Given the description of an element on the screen output the (x, y) to click on. 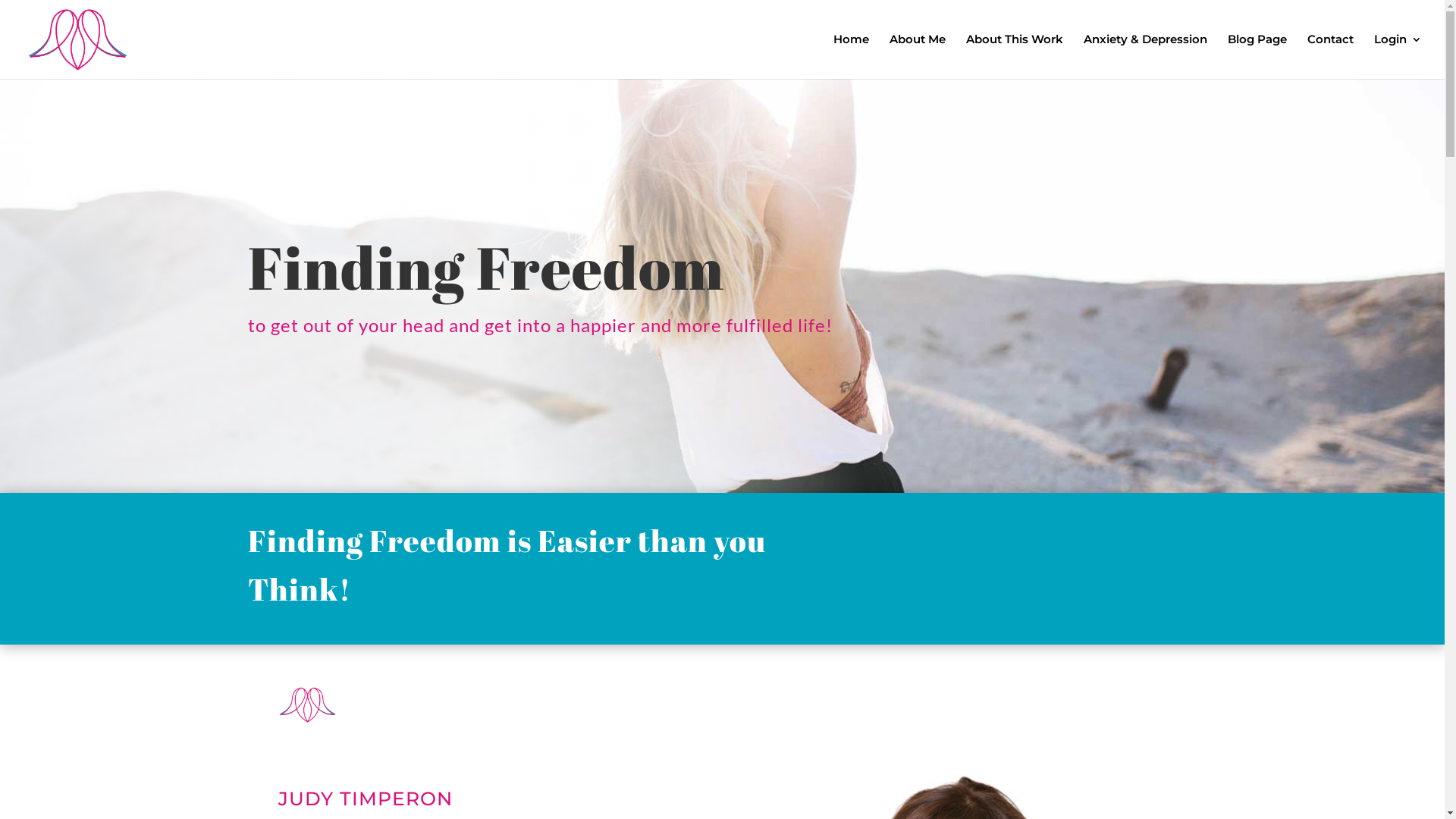
About Me Element type: text (917, 56)
Anxiety & Depression Element type: text (1145, 56)
Login Element type: text (1397, 56)
Contact Element type: text (1330, 56)
Blog Page Element type: text (1256, 56)
Home Element type: text (851, 56)
About This Work Element type: text (1014, 56)
